Given the description of an element on the screen output the (x, y) to click on. 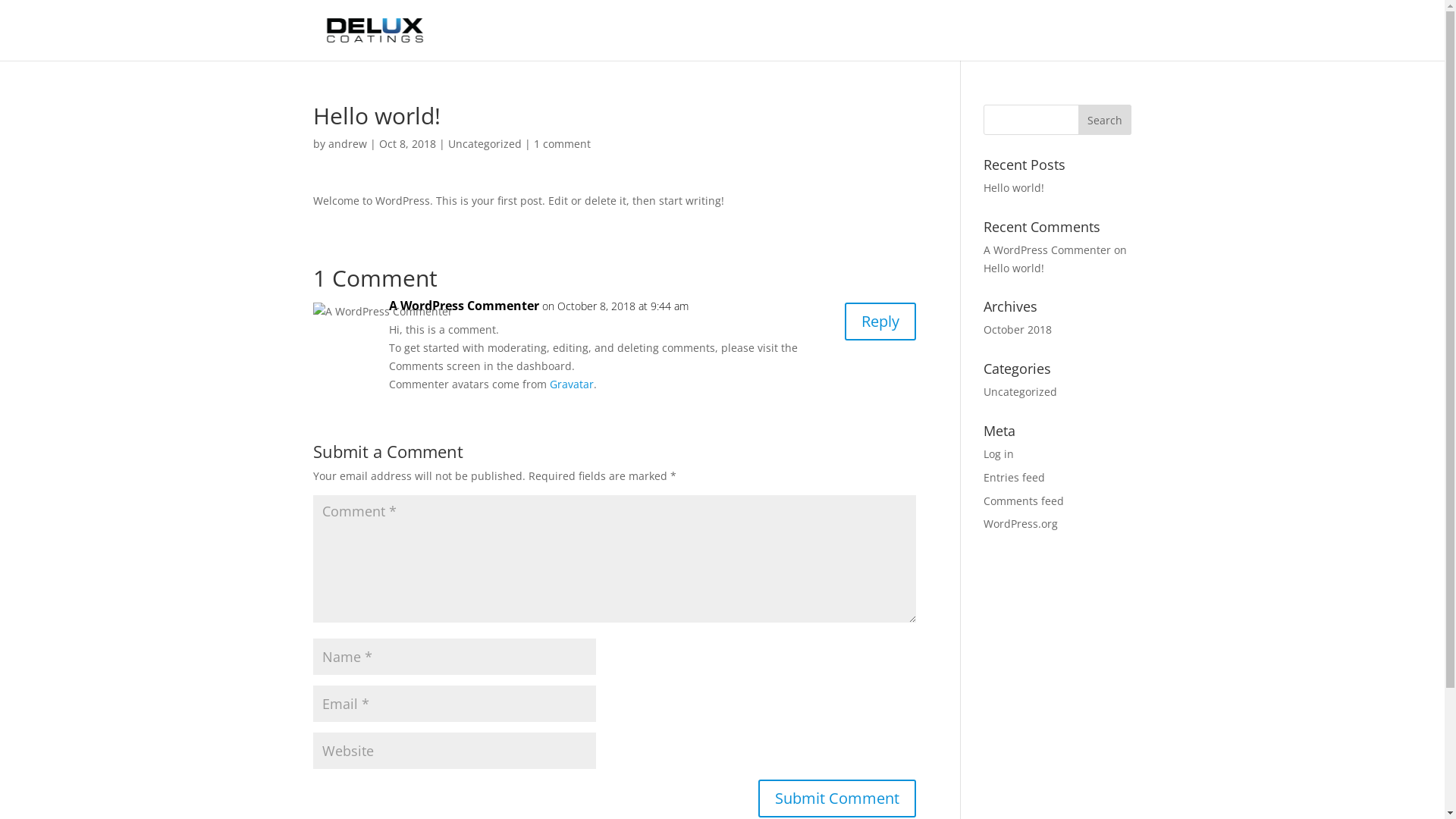
Uncategorized Element type: text (483, 143)
Comments feed Element type: text (1023, 500)
A WordPress Commenter Element type: text (1046, 249)
Gravatar Element type: text (571, 383)
A WordPress Commenter Element type: text (463, 306)
Search Element type: text (1104, 119)
Log in Element type: text (998, 453)
Uncategorized Element type: text (1020, 391)
Hello world! Element type: text (1013, 187)
1 comment Element type: text (561, 143)
andrew Element type: text (346, 143)
Hello world! Element type: text (1013, 267)
Entries feed Element type: text (1013, 477)
October 2018 Element type: text (1017, 329)
Reply Element type: text (880, 321)
WordPress.org Element type: text (1020, 523)
Submit Comment Element type: text (837, 798)
